Given the description of an element on the screen output the (x, y) to click on. 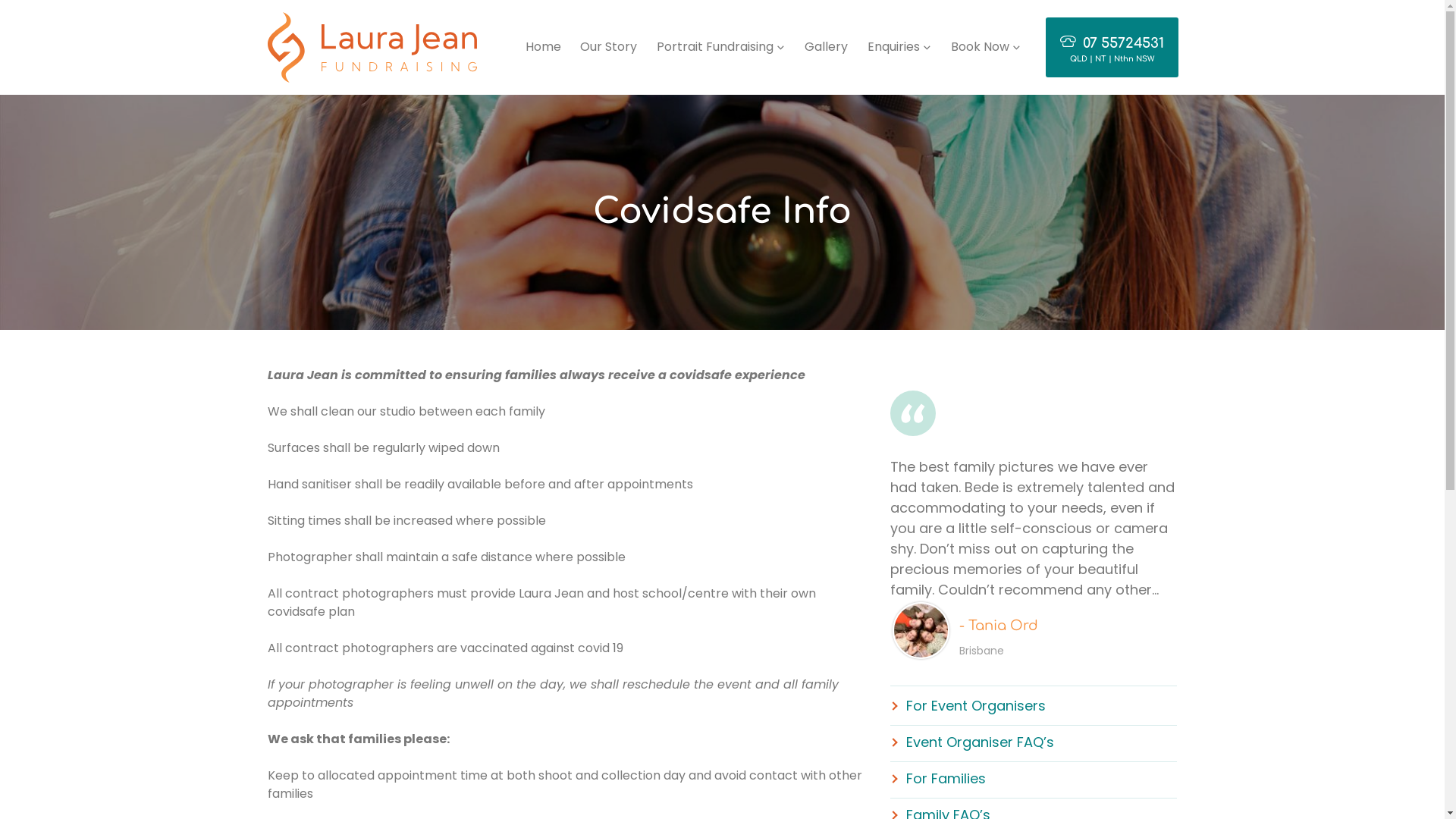
Our Story Element type: text (608, 46)
For Families Element type: text (938, 777)
Enquiries Element type: text (899, 46)
Home Element type: text (542, 46)
07 55724531QLD | NT | Nthn NSW Element type: text (1111, 47)
Gallery Element type: text (825, 46)
For Event Organisers Element type: text (968, 705)
Book Now Element type: text (985, 46)
Portrait Fundraising Element type: text (720, 46)
